Given the description of an element on the screen output the (x, y) to click on. 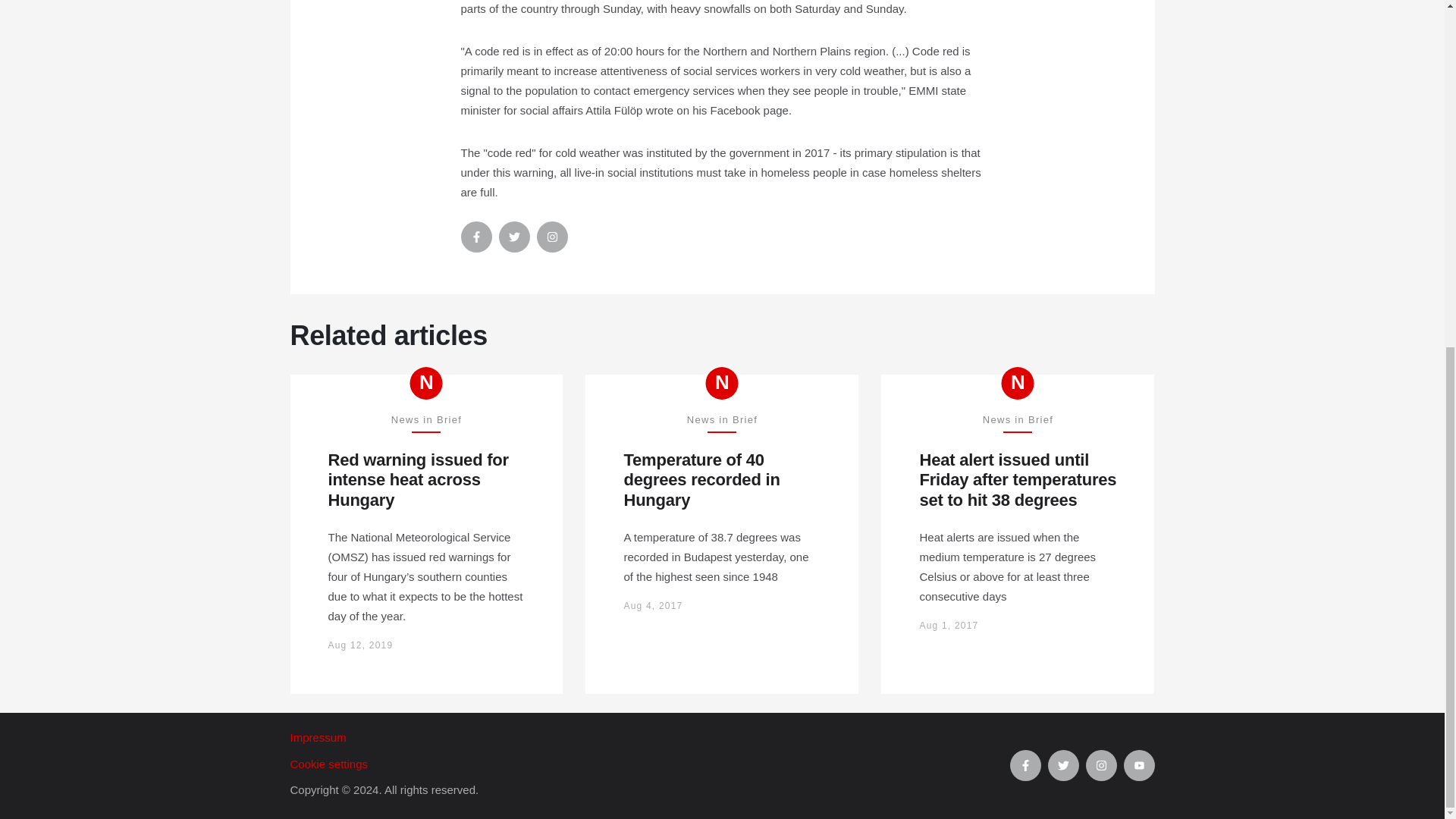
N (426, 382)
Temperature of 40 degrees recorded in Hungary (722, 480)
Twitter- icon (514, 236)
Red warning issued for intense heat across Hungary (425, 480)
N (1017, 382)
Impressum (649, 737)
Red warning issued for intense heat across Hungary (425, 480)
News in Brief (426, 382)
